Given the description of an element on the screen output the (x, y) to click on. 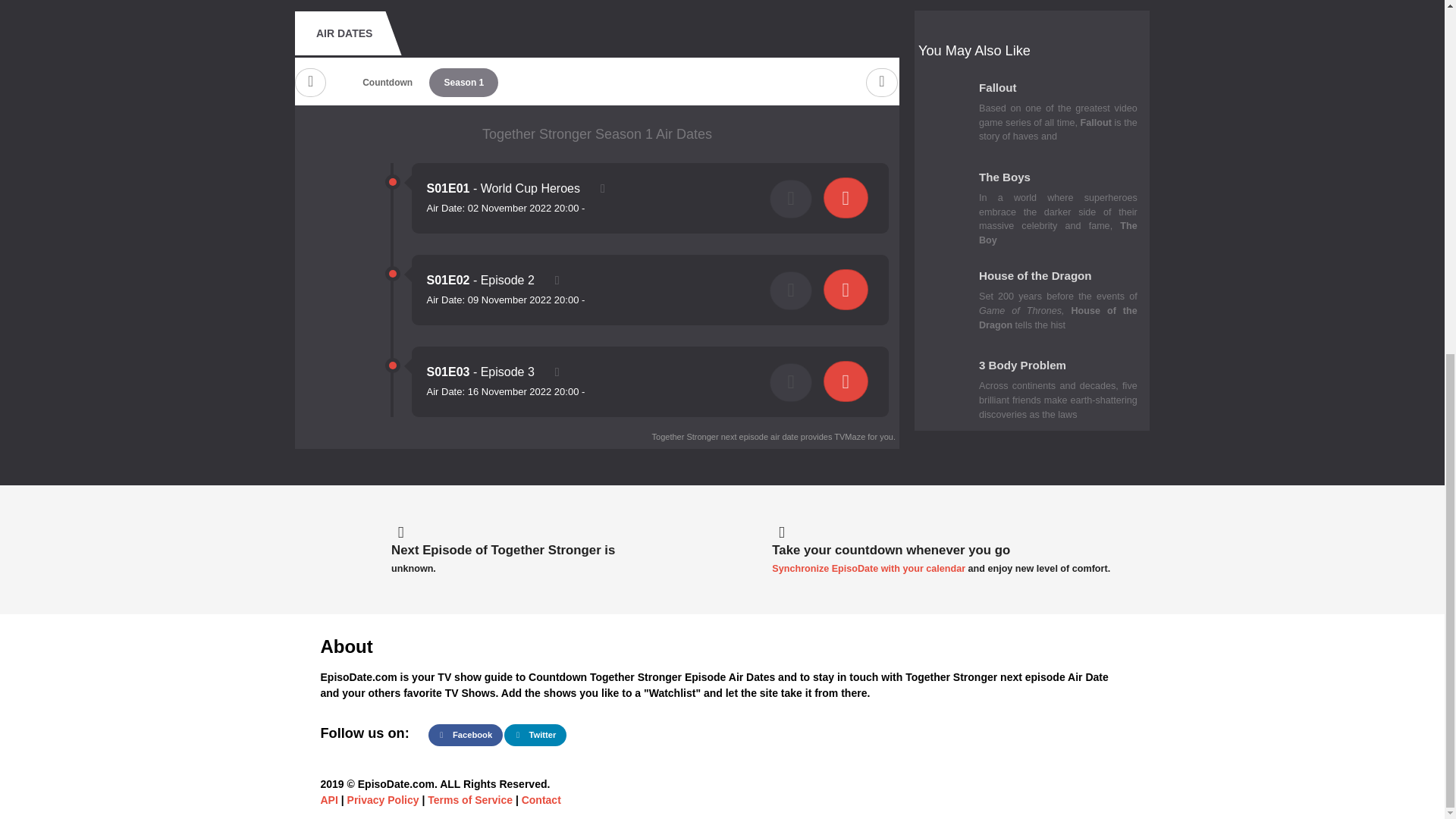
Countdown (386, 82)
Season 1 (463, 82)
AIR DATES (344, 33)
Together Stronger next episode air date (724, 436)
Fallout (1057, 90)
The Boys (1057, 180)
